Given the description of an element on the screen output the (x, y) to click on. 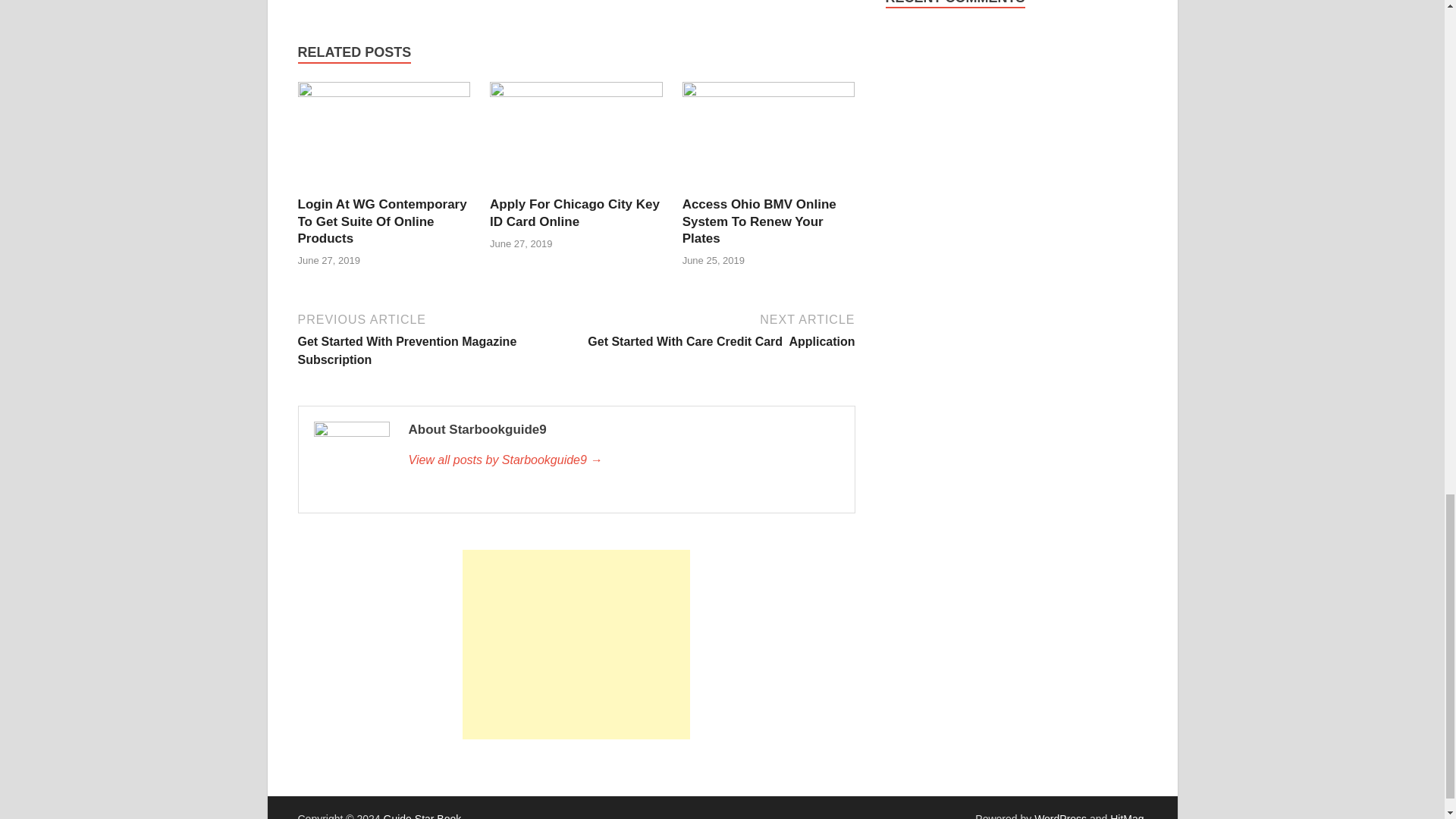
Access Ohio BMV Online System To Renew Your Plates (769, 92)
Apply For Chicago City Key ID Card Online (717, 329)
Apply For Chicago City Key ID Card Online (574, 212)
Login At WG Contemporary To Get Suite Of Online Products (575, 92)
Login At WG Contemporary To Get Suite Of Online Products (381, 220)
Apply For Chicago City Key ID Card Online (381, 220)
Login At WG Contemporary To Get Suite Of Online Products (574, 212)
Access Ohio BMV Online System To Renew Your Plates (383, 92)
Access Ohio BMV Online System To Renew Your Plates (758, 220)
Starbookguide9 (758, 220)
